Given the description of an element on the screen output the (x, y) to click on. 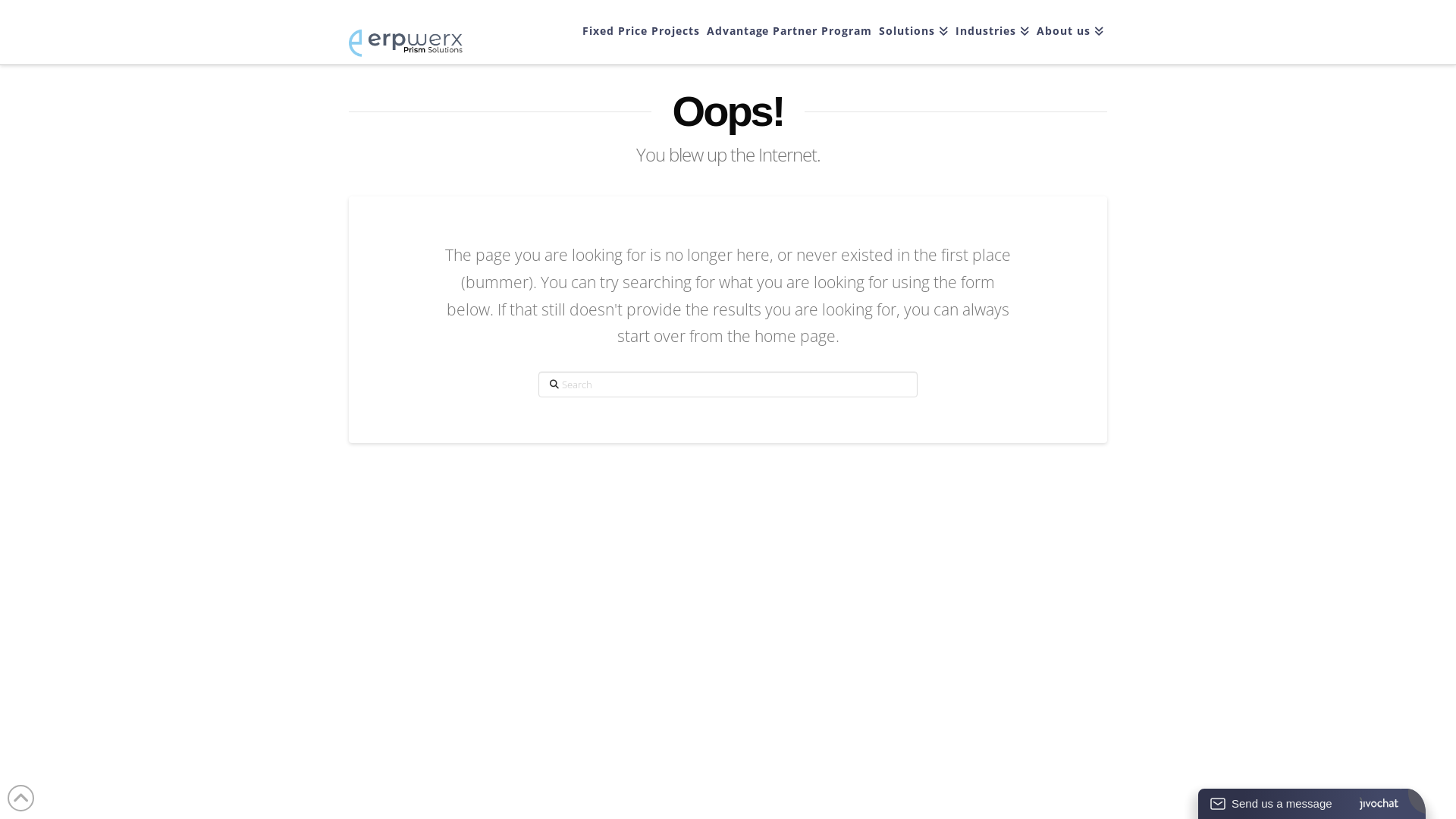
Industries Element type: text (991, 32)
About us Element type: text (1069, 32)
Solutions Element type: text (913, 32)
Back to Top Element type: hover (20, 797)
Fixed Price Projects Element type: text (640, 32)
Advantage Partner Program Element type: text (788, 32)
